Given the description of an element on the screen output the (x, y) to click on. 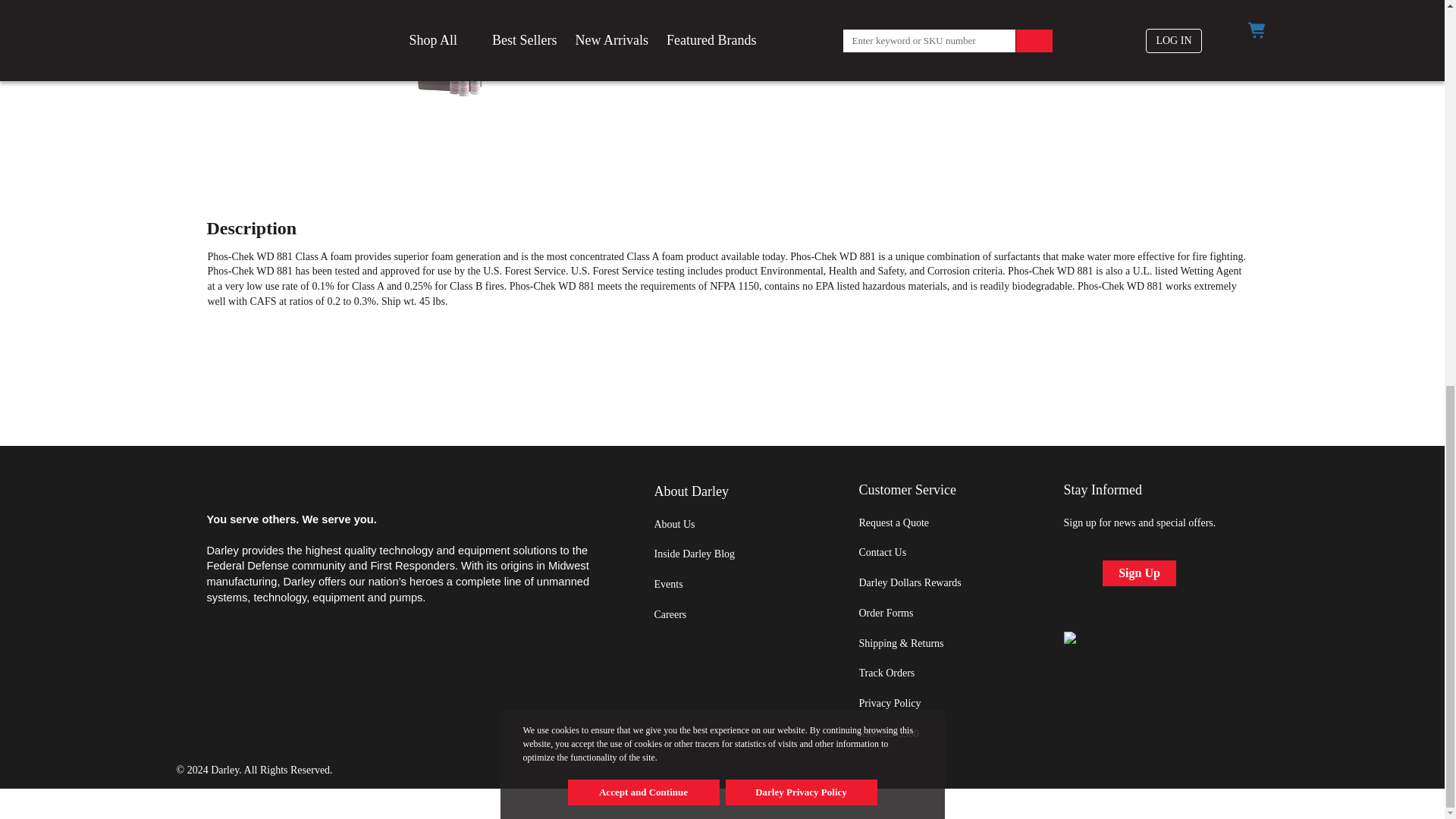
Order Forms (885, 613)
Contact Us (882, 552)
Sign Up (1139, 573)
Track Orders (886, 672)
Events (667, 583)
Request a Quote (893, 522)
Darley Dollars Rewards (909, 582)
Darley Privacy Policy (800, 63)
Careers (669, 614)
Privacy Policy (889, 703)
